Given the description of an element on the screen output the (x, y) to click on. 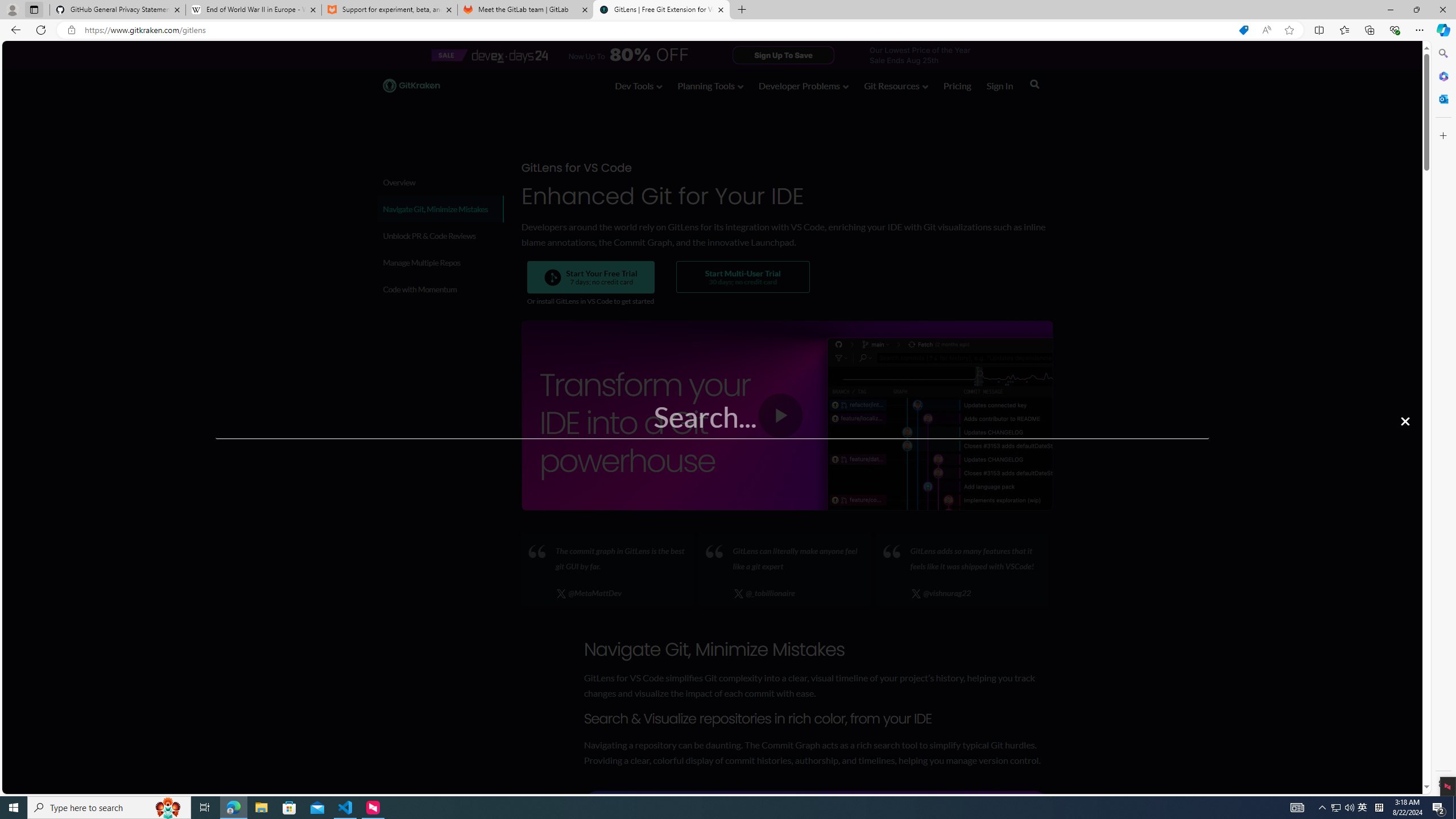
Sign In (999, 85)
Meet the GitLab team | GitLab (525, 9)
Close this search box. (1404, 420)
Code with Momentum (440, 289)
Start Your Free Trial 7 days; no credit card (591, 277)
End of World War II in Europe - Wikipedia (253, 9)
Sign Up To Save (783, 54)
Unblock PR & Code Reviews (440, 235)
Navigate Git, Minimize Mistakes (439, 209)
